Given the description of an element on the screen output the (x, y) to click on. 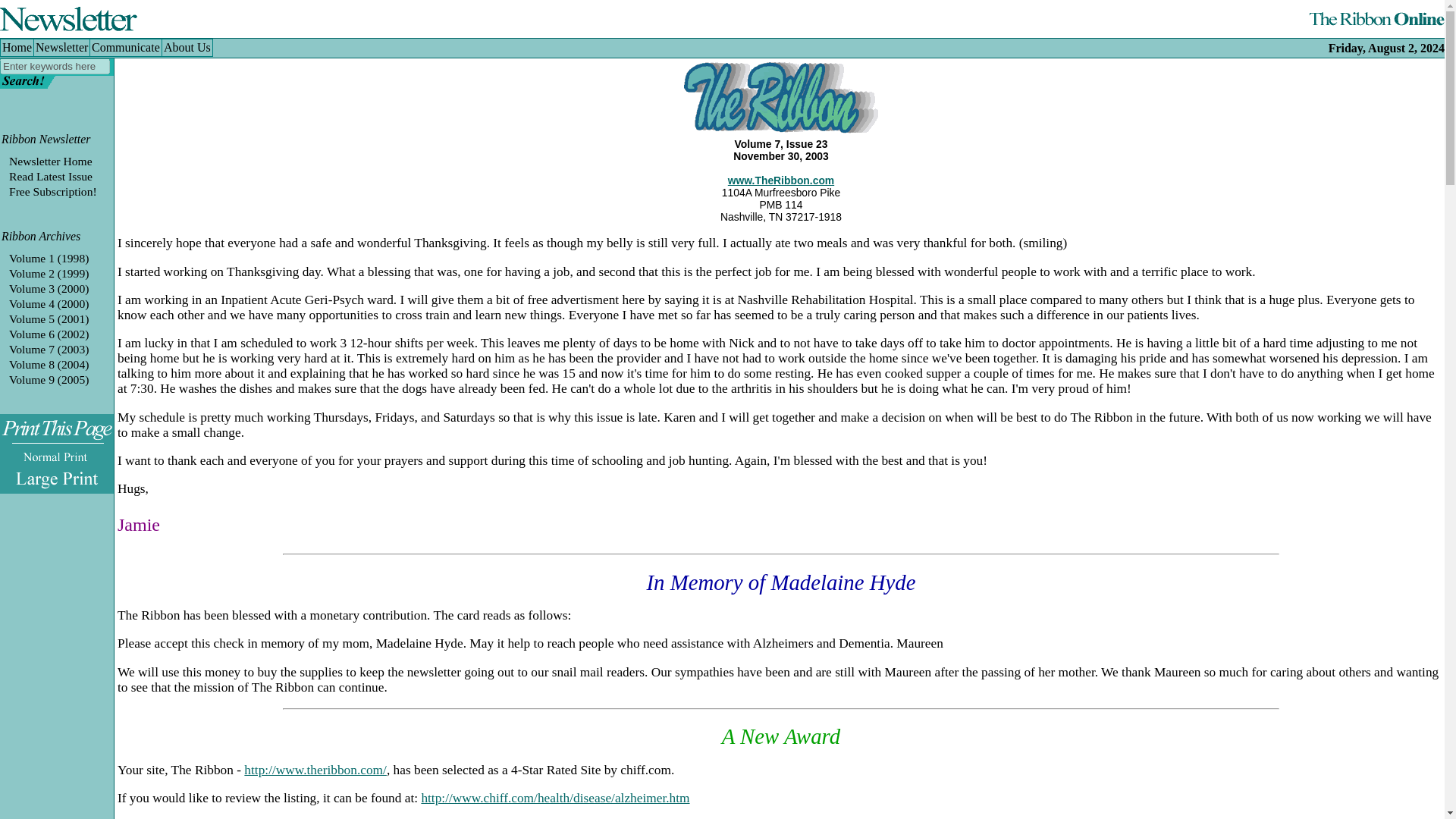
Find Alzheimer's related websites at Chiff.com (554, 798)
Newsletter Home (50, 160)
Read Latest Issue (50, 175)
Care for Caregivers - TheRibbon.com (315, 769)
Communicate (124, 44)
Ribbon Newsletter (45, 138)
Home (18, 44)
Newsletter (60, 44)
The Ribbon newsletter front page (50, 160)
About Us (184, 44)
Enter keywords here (55, 66)
Care for Caregivers - TheRibbon.com (781, 180)
Ribbon Archives (40, 236)
Read the latest issue of The Ribbon (50, 175)
Free Subscription! (52, 191)
